Given the description of an element on the screen output the (x, y) to click on. 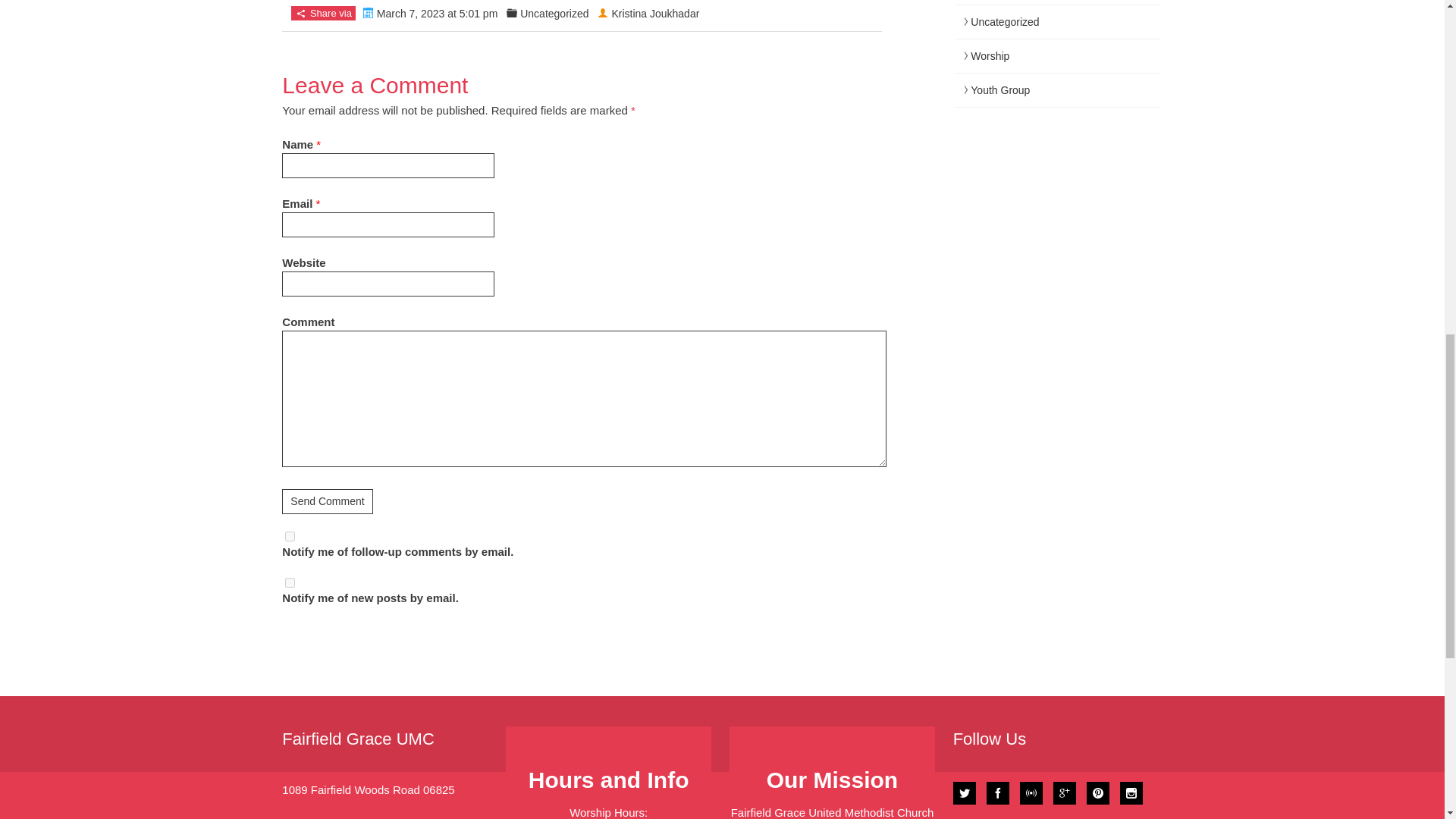
subscribe (290, 583)
Send Comment (327, 501)
subscribe (290, 536)
